Given the description of an element on the screen output the (x, y) to click on. 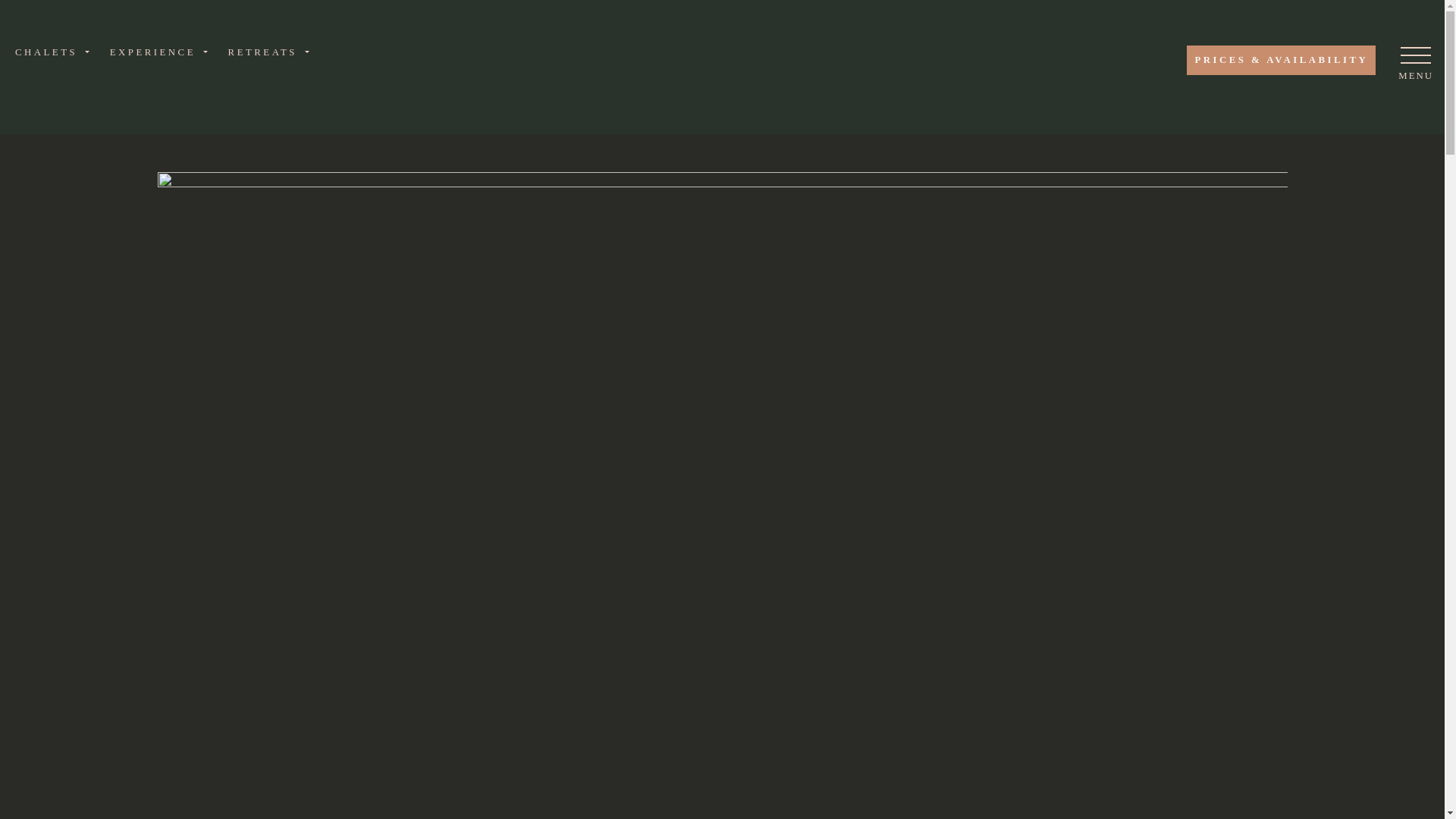
EXPERIENCE (162, 51)
MENU (1414, 64)
CHALETS (55, 51)
RETREATS (272, 51)
